Given the description of an element on the screen output the (x, y) to click on. 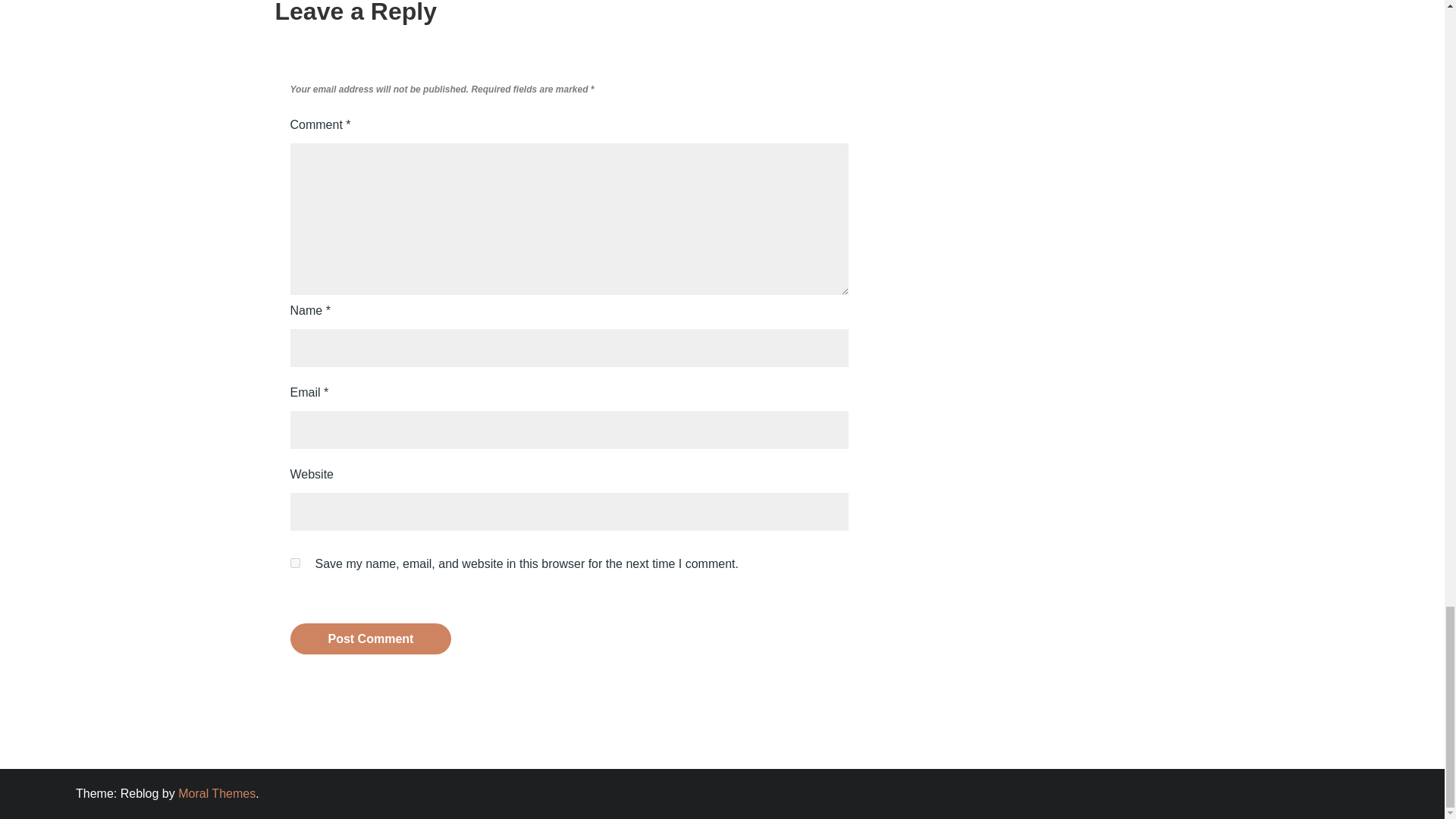
Post Comment (370, 638)
yes (294, 562)
Moral Themes (216, 793)
Post Comment (370, 638)
